Given the description of an element on the screen output the (x, y) to click on. 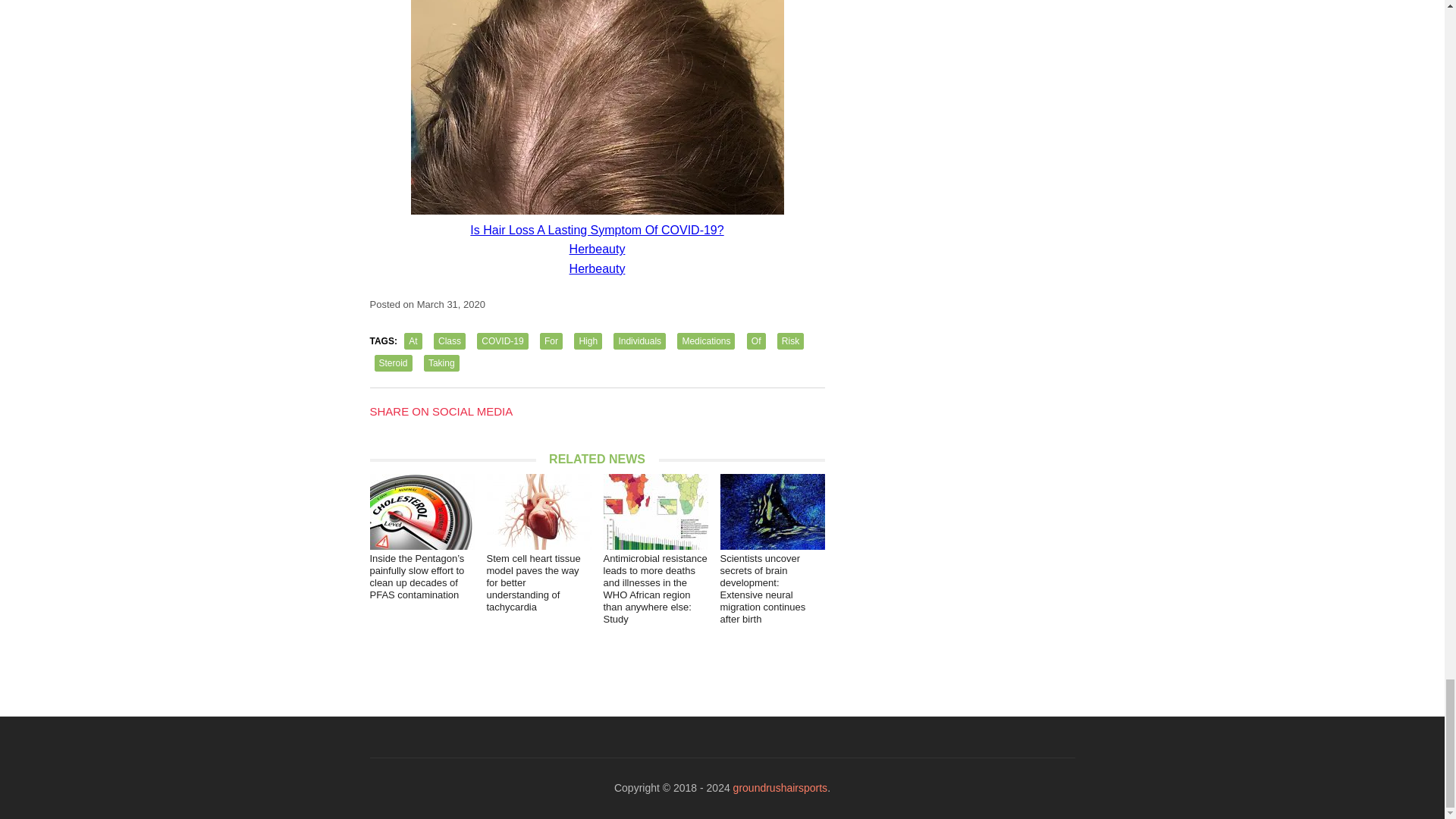
Of (755, 340)
groundrushairsports (780, 787)
Risk (790, 340)
For (551, 340)
Individuals (638, 340)
COVID-19 (502, 340)
Taking (441, 362)
Class (449, 340)
Medications (706, 340)
High (587, 340)
At (413, 340)
